Given the description of an element on the screen output the (x, y) to click on. 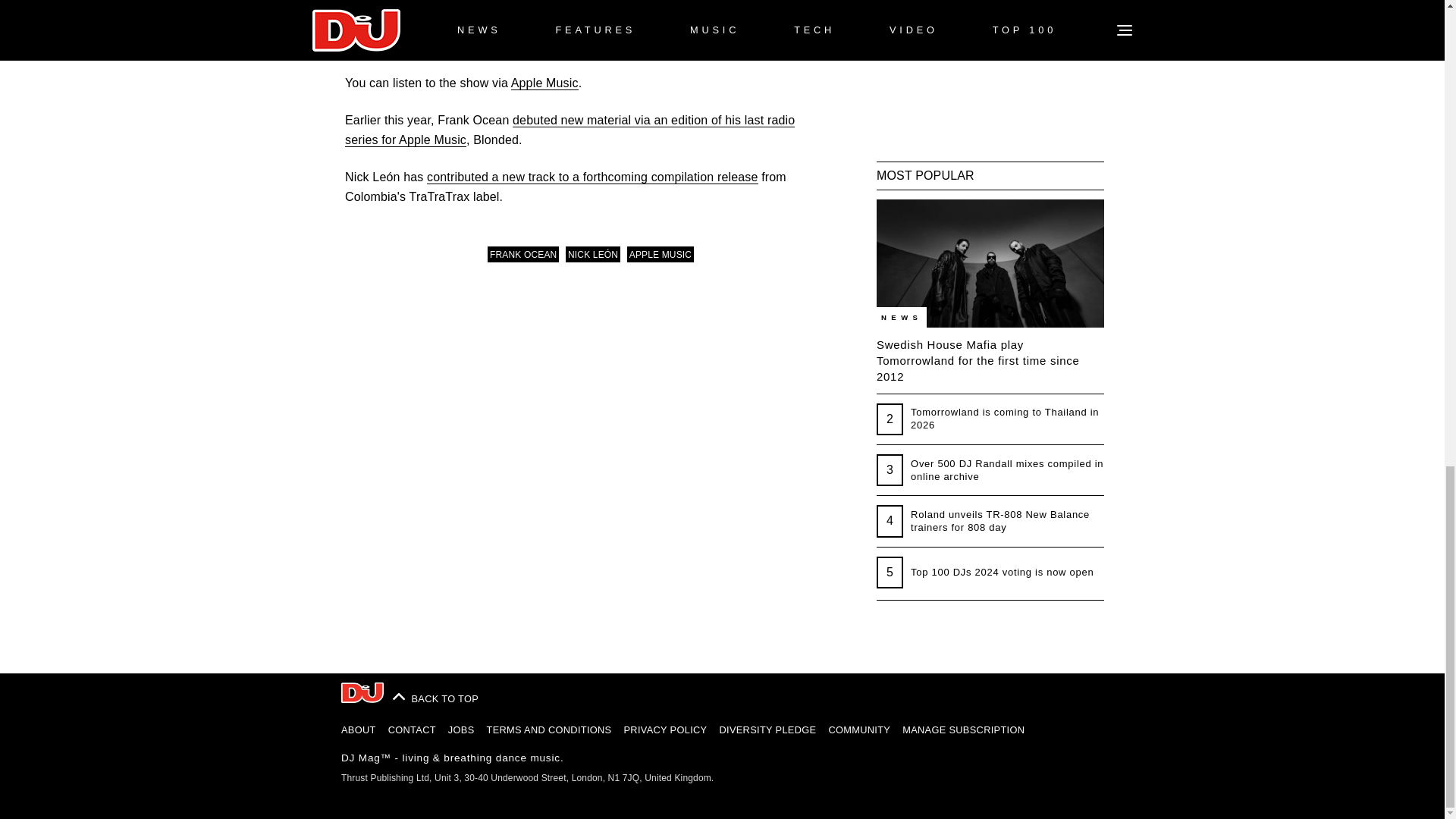
DjMag (362, 691)
Apple Music: Homer Radio (544, 83)
Frank Ocean shares new music through Blonded Radio show (569, 130)
